Given the description of an element on the screen output the (x, y) to click on. 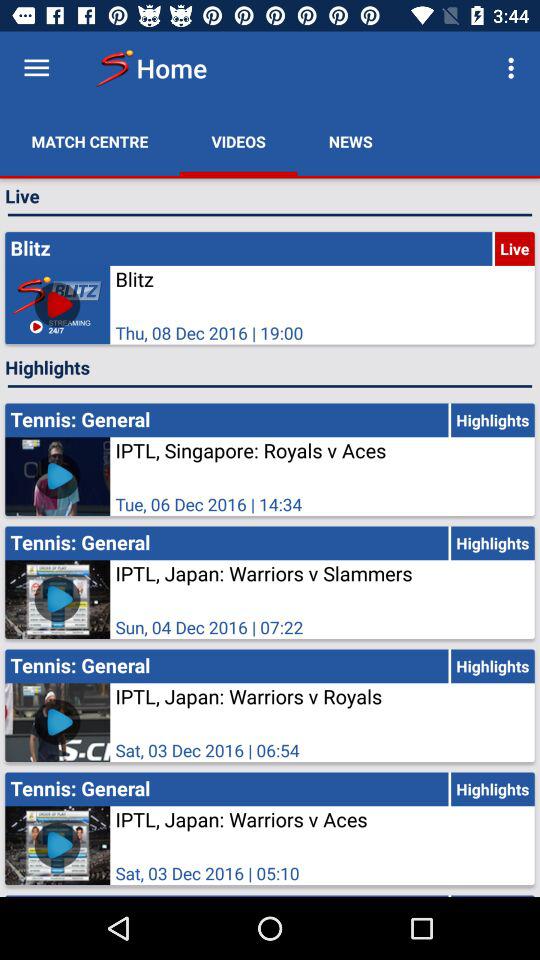
turn on the item next to the news icon (513, 67)
